Given the description of an element on the screen output the (x, y) to click on. 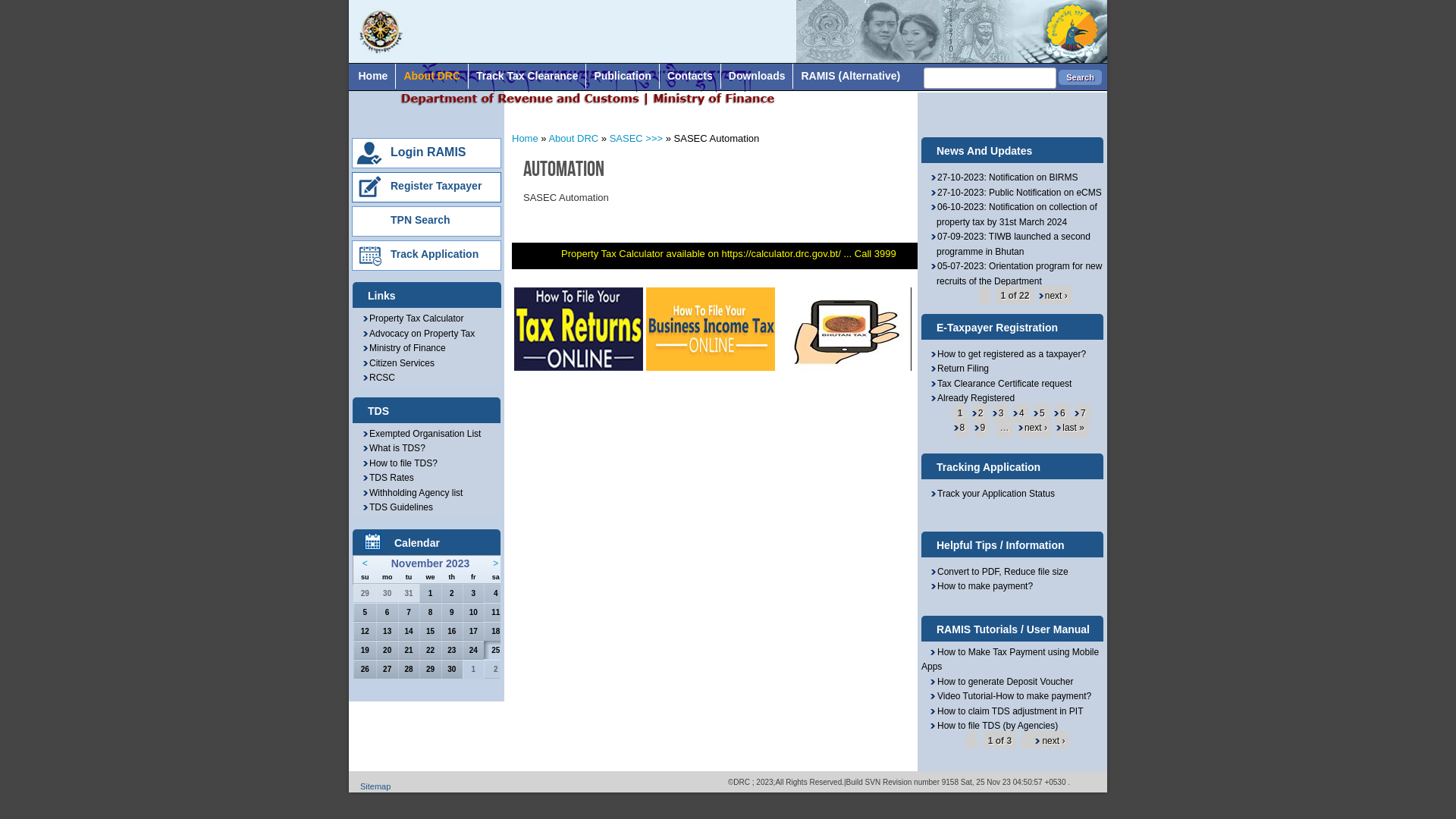
Home Element type: text (372, 75)
Return Filing Element type: text (958, 368)
Track Application Element type: text (434, 253)
Withholding Agency list Element type: text (411, 492)
How to get registered as a taxpayer? Element type: text (1007, 353)
> Element type: text (495, 563)
Search Element type: text (1079, 76)
8 Element type: text (958, 427)
Citizen Services Element type: text (397, 362)
7 Element type: text (1079, 412)
Exempted Organisation List Element type: text (420, 433)
Tax Clearance Certificate request Element type: text (1000, 383)
How to claim TDS adjustment in PIT Element type: text (1002, 711)
How to file TDS (by Agencies) Element type: text (989, 725)
What is TDS? Element type: text (393, 447)
07-09-2023: TIWB launched a second programme in Bhutan Element type: text (1009, 244)
5 Element type: text (1038, 412)
4 Element type: text (1017, 412)
Sitemap Element type: text (375, 785)
How to make payment? Element type: text (980, 585)
9 Element type: text (978, 427)
Convert to PDF, Reduce file size Element type: text (998, 571)
Property Tax Calculator Element type: text (412, 318)
How to Make Tax Payment using Mobile Apps Element type: text (1009, 659)
TDS Guidelines Element type: text (397, 507)
Home Element type: text (524, 138)
About DRC Element type: text (574, 138)
Home Element type: hover (381, 50)
2 Element type: text (976, 412)
6 Element type: text (1058, 412)
Advocacy on Property Tax Element type: text (417, 333)
27-10-2023: Public Notification on eCMS Element type: text (1015, 192)
Login RAMIS Element type: text (428, 151)
3 Element type: text (997, 412)
TDS Rates Element type: text (387, 477)
Contacts Element type: text (689, 75)
How to file TDS? Element type: text (399, 463)
Track your Application Status Element type: text (991, 493)
RAMIS (Alternative) Element type: text (850, 75)
< Element type: text (364, 563)
About DRC Element type: text (431, 75)
Track Tax Clearance Element type: text (526, 75)
How to generate Deposit Voucher Element type: text (997, 681)
27-10-2023: Notification on BIRMS Element type: text (1003, 177)
Publication Element type: text (622, 75)
Already Registered Element type: text (971, 397)
RCSC Element type: text (378, 377)
Automation Element type: text (563, 168)
Ministry of Finance Element type: text (403, 347)
TPN Search Element type: text (420, 219)
Register Taxpayer Element type: text (435, 185)
SASEC >>> Element type: text (635, 138)
Enter the terms you wish to search for. Element type: hover (989, 77)
Downloads Element type: text (757, 75)
Video Tutorial-How to make payment? Element type: text (1006, 695)
